Given the description of an element on the screen output the (x, y) to click on. 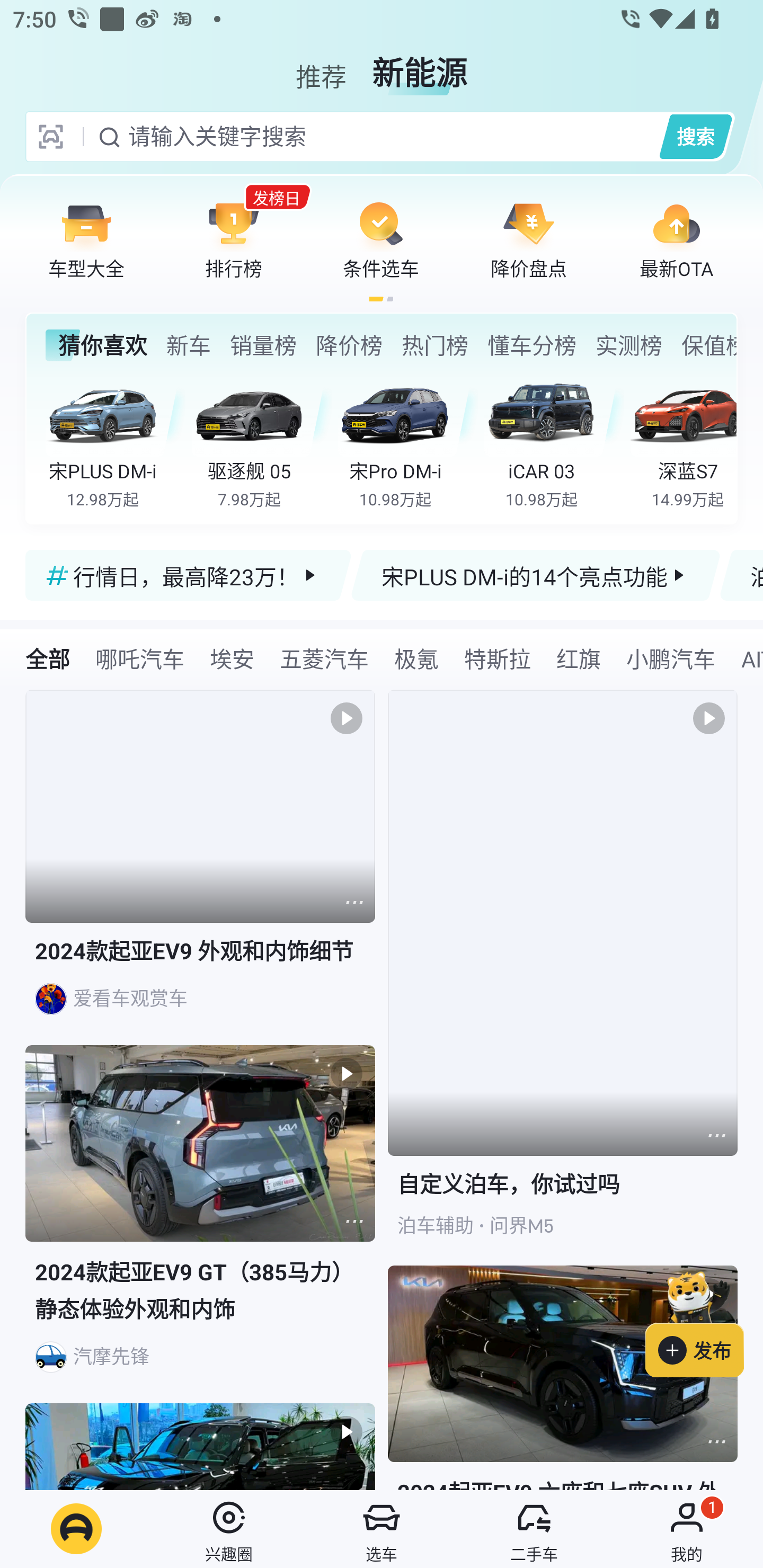
推荐 (321, 65)
新能源 (419, 65)
搜索 (695, 136)
车型大全 (86, 238)
发榜日 排行榜 (233, 238)
条件选车 (380, 238)
降价盘点 (528, 238)
最新OTA (676, 238)
猜你喜欢 (96, 344)
新车 (188, 344)
销量榜 (262, 344)
降价榜 (348, 344)
热门榜 (434, 344)
懂车分榜 (531, 344)
实测榜 (628, 344)
保值榜 (708, 344)
宋PLUS DM-i 12.98万起 (115, 442)
驱逐舰 05 7.98万起 (261, 442)
宋Pro DM-i 10.98万起 (407, 442)
iCAR 03 10.98万起 (554, 442)
深蓝S7 14.99万起 (683, 442)
行情日，最高降23万！ (188, 575)
宋PLUS DM-i的14个亮点功能 (535, 575)
全部 (47, 658)
哪吒汽车 (139, 658)
埃安 (231, 658)
五菱汽车 (324, 658)
极氪 (416, 658)
特斯拉 (497, 658)
红旗 (578, 658)
小鹏汽车 (670, 658)
  2024款起亚EV9 外观和内饰细节 爱看车观赏车 (200, 867)
  自定义泊车，你试过吗 泊车辅助 问界M5 (562, 977)
 (354, 902)
  2024款起亚EV9 GT（385马力）静态体验外观和内饰 汽摩先锋 (200, 1224)
 (716, 1135)
 (354, 1221)
问界M5 (521, 1226)
  2024起亚EV9 六座和七座SUV 外观和内饰细节 (562, 1377)
发布 (704, 1320)
 (716, 1440)
 兴趣圈 (228, 1528)
 选车 (381, 1528)
 二手车 (533, 1528)
 我的 (686, 1528)
